Given the description of an element on the screen output the (x, y) to click on. 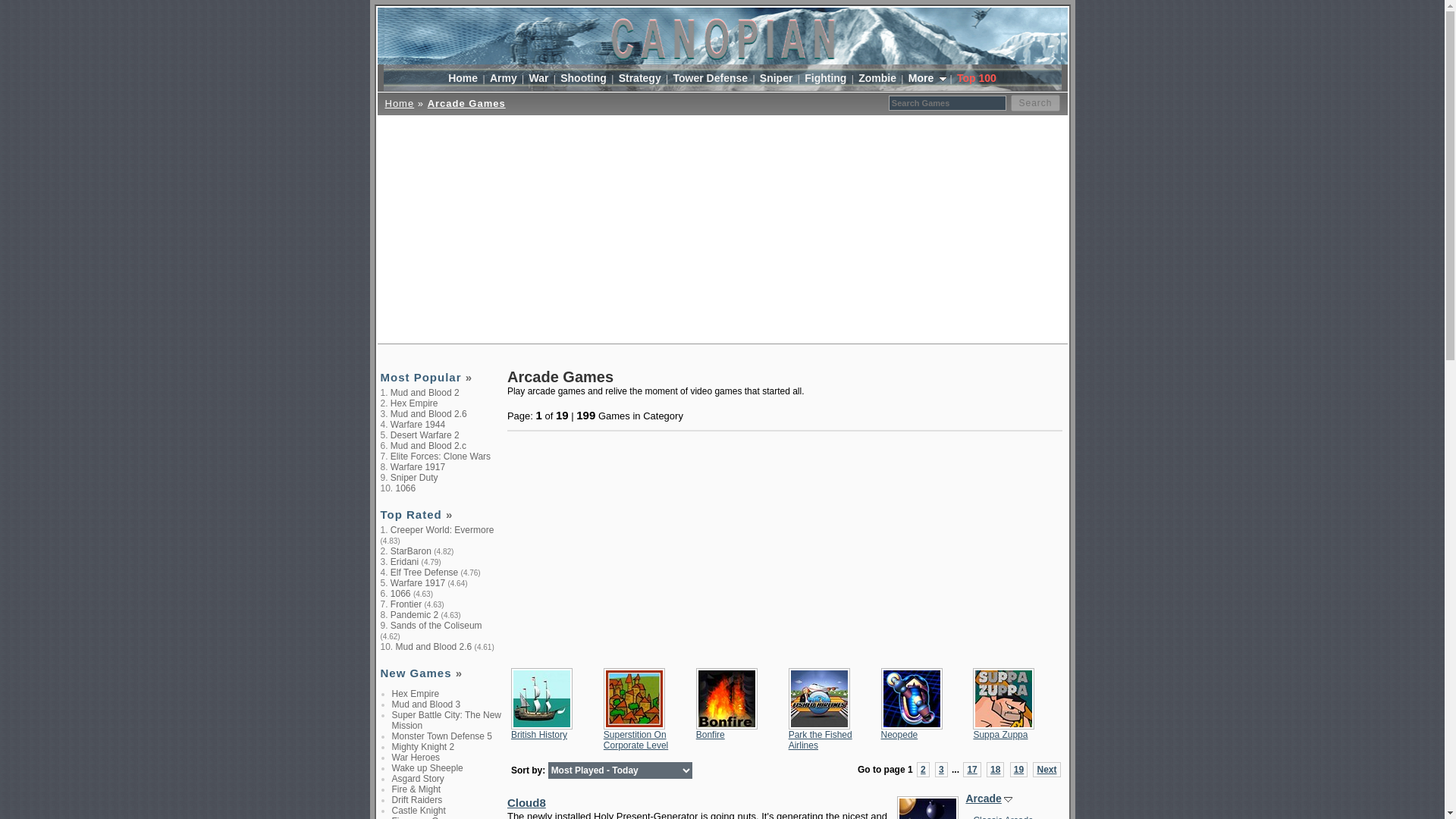
Search (1034, 103)
Shooting (582, 77)
Home (462, 77)
Most played games of all time.. (441, 377)
Fighting Games (825, 77)
Desert Warfare 2 (425, 434)
Fighting (825, 77)
Sniper (775, 77)
1066 (400, 593)
StarBaron (410, 551)
